Given the description of an element on the screen output the (x, y) to click on. 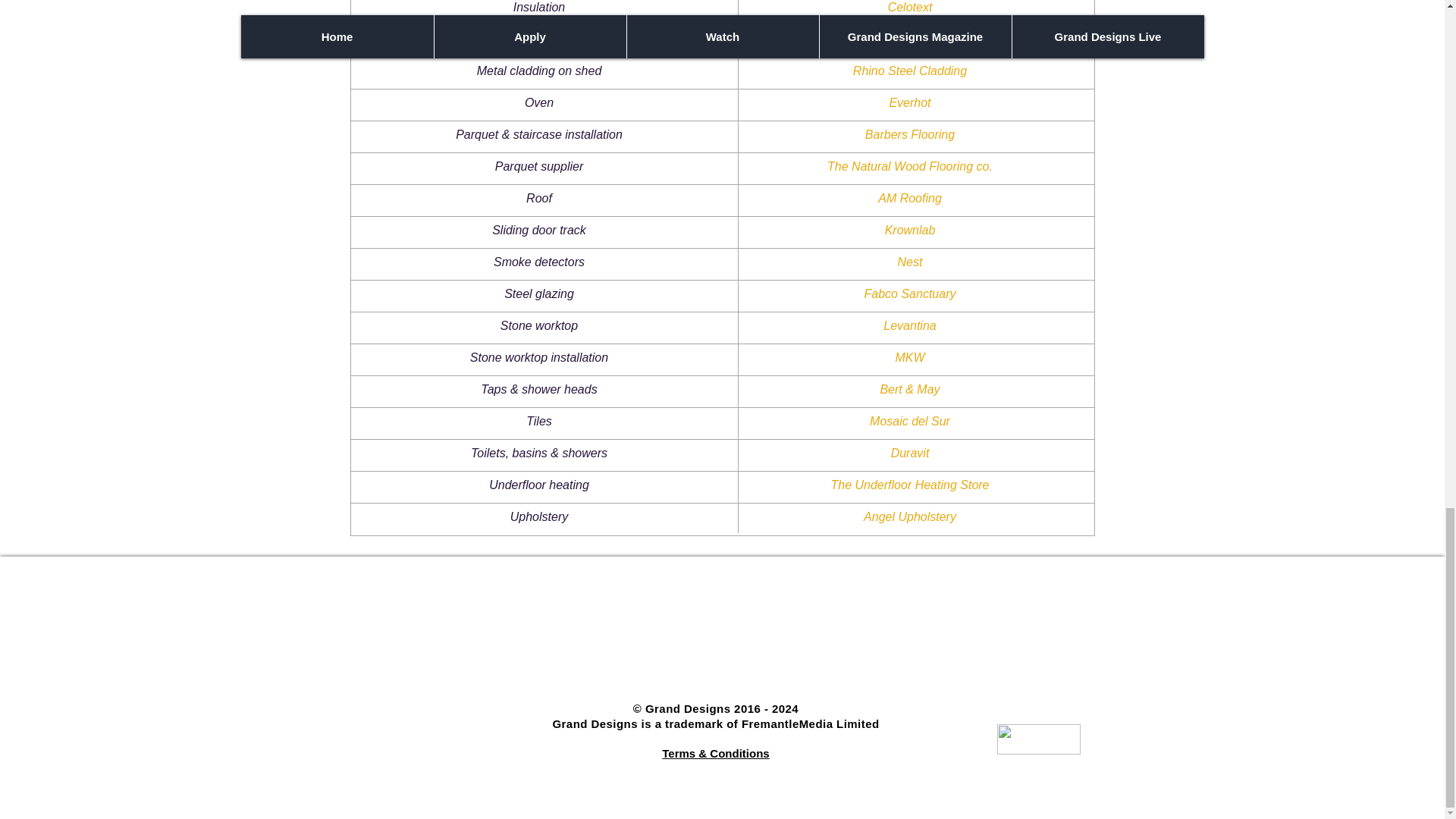
Imperfect Interiors (910, 38)
Everhot (909, 102)
Levantina (909, 325)
The Underfloor Heating Store (910, 484)
Celotext (910, 6)
Angel Upholstery (909, 516)
MKW (909, 357)
Fabco Sanctuary (910, 293)
Krownlab (910, 229)
AM Roofing (909, 197)
The Natural Wood Flooring co. (909, 165)
Rhino Steel Cladding (909, 70)
Duravit (910, 452)
Nest (910, 261)
Mosaic del Sur (909, 420)
